Given the description of an element on the screen output the (x, y) to click on. 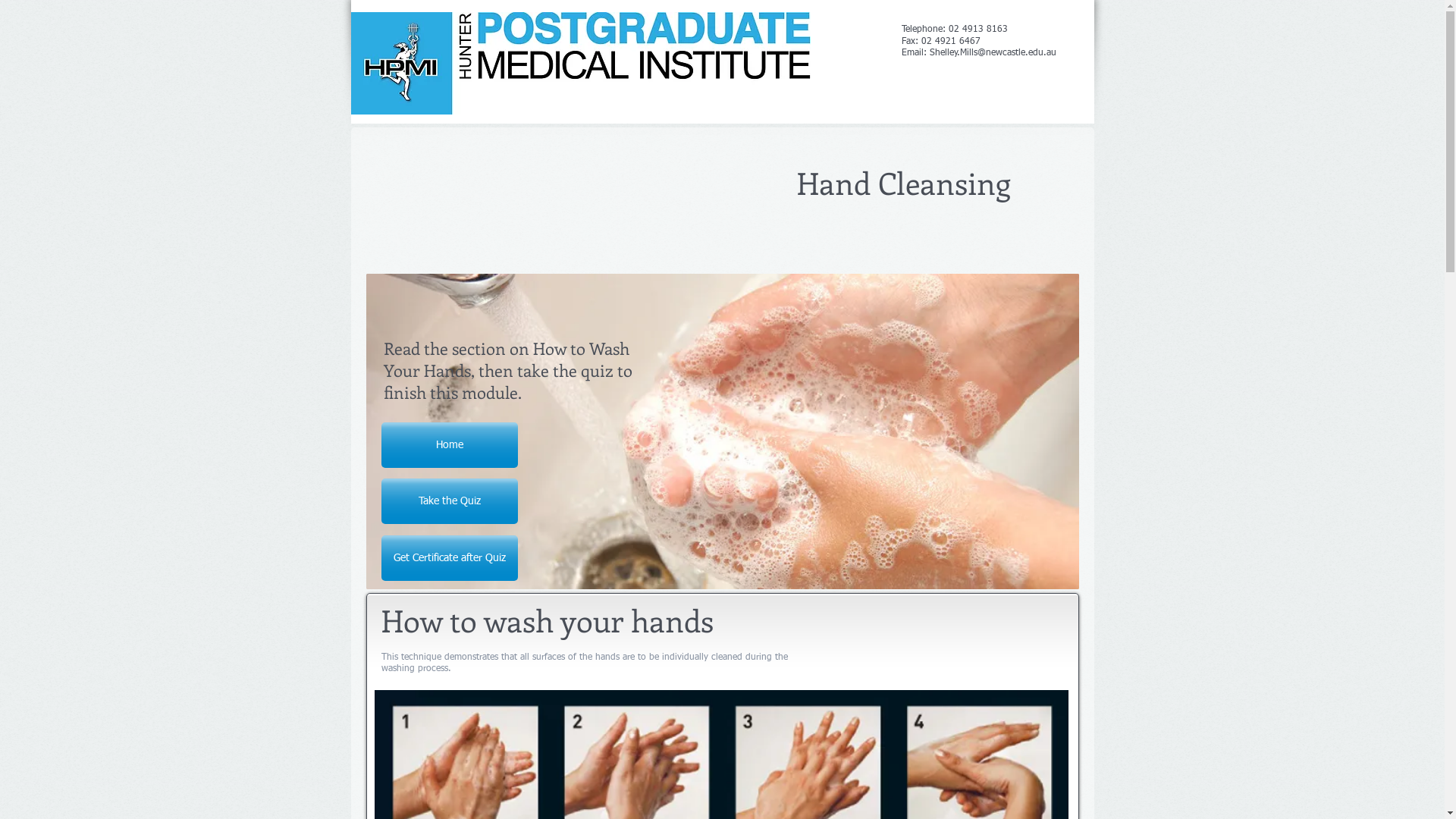
Shelley.Mills@newcastle.edu.au Element type: text (992, 52)
Home Element type: text (448, 444)
Take the Quiz Element type: text (448, 501)
Get Certificate after Quiz Element type: text (448, 557)
